Given the description of an element on the screen output the (x, y) to click on. 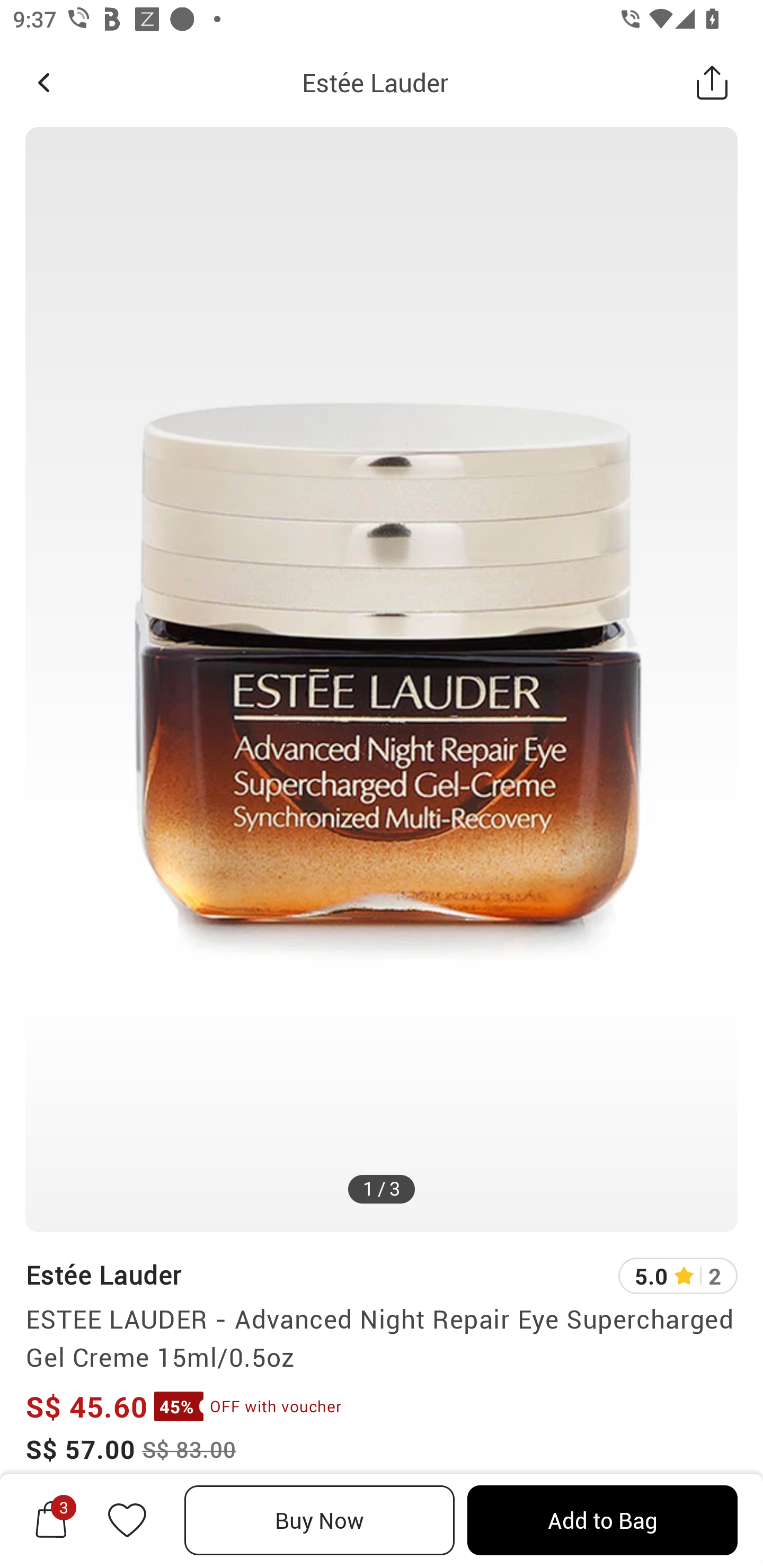
Estée Lauder (375, 82)
Share this Product (711, 82)
Estée Lauder (103, 1274)
5.0 2 (677, 1275)
Buy Now (319, 1519)
Add to Bag (601, 1519)
3 (50, 1520)
